Given the description of an element on the screen output the (x, y) to click on. 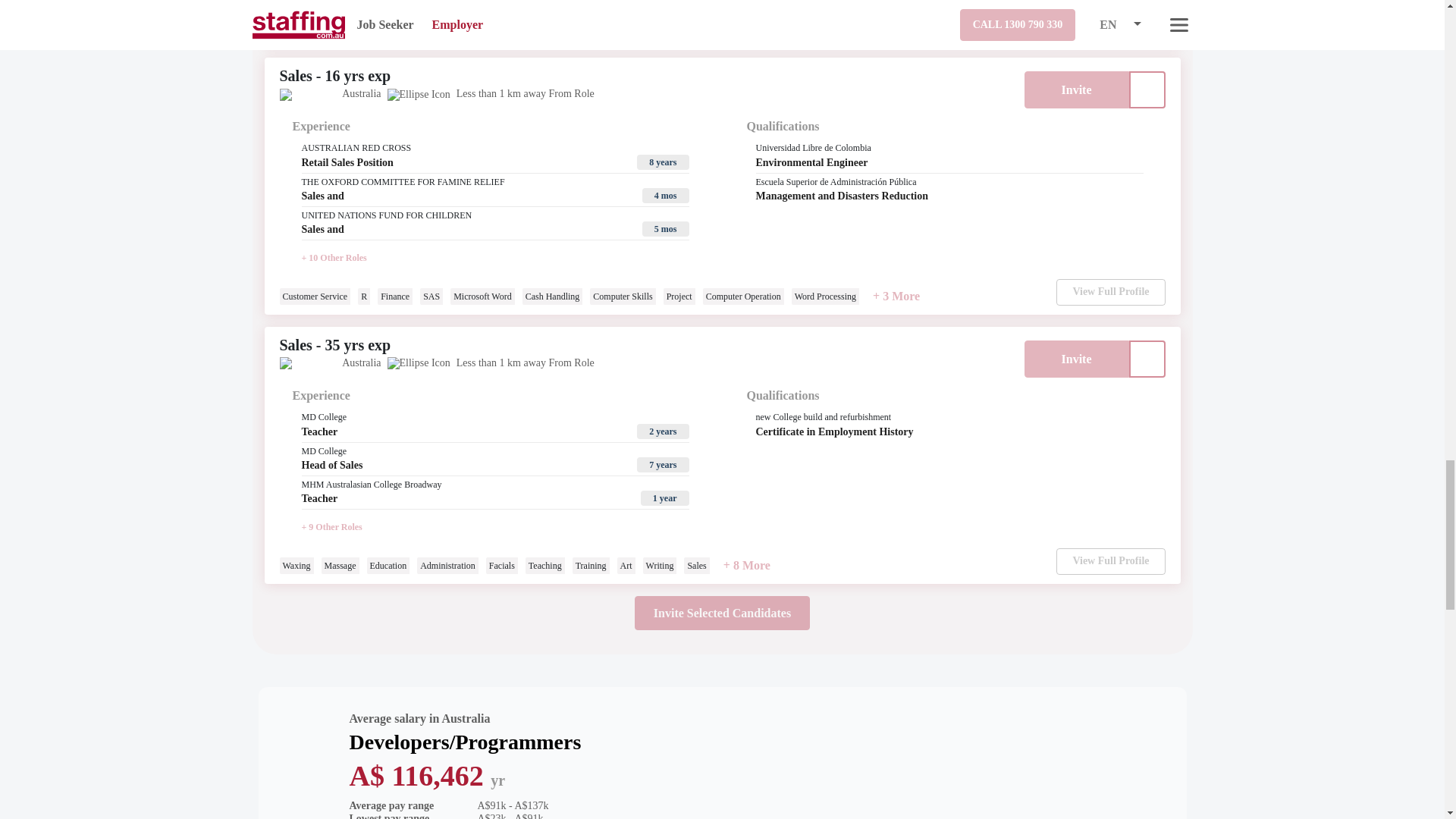
View Full Profile (1110, 22)
on (1146, 358)
on (1146, 89)
